Given the description of an element on the screen output the (x, y) to click on. 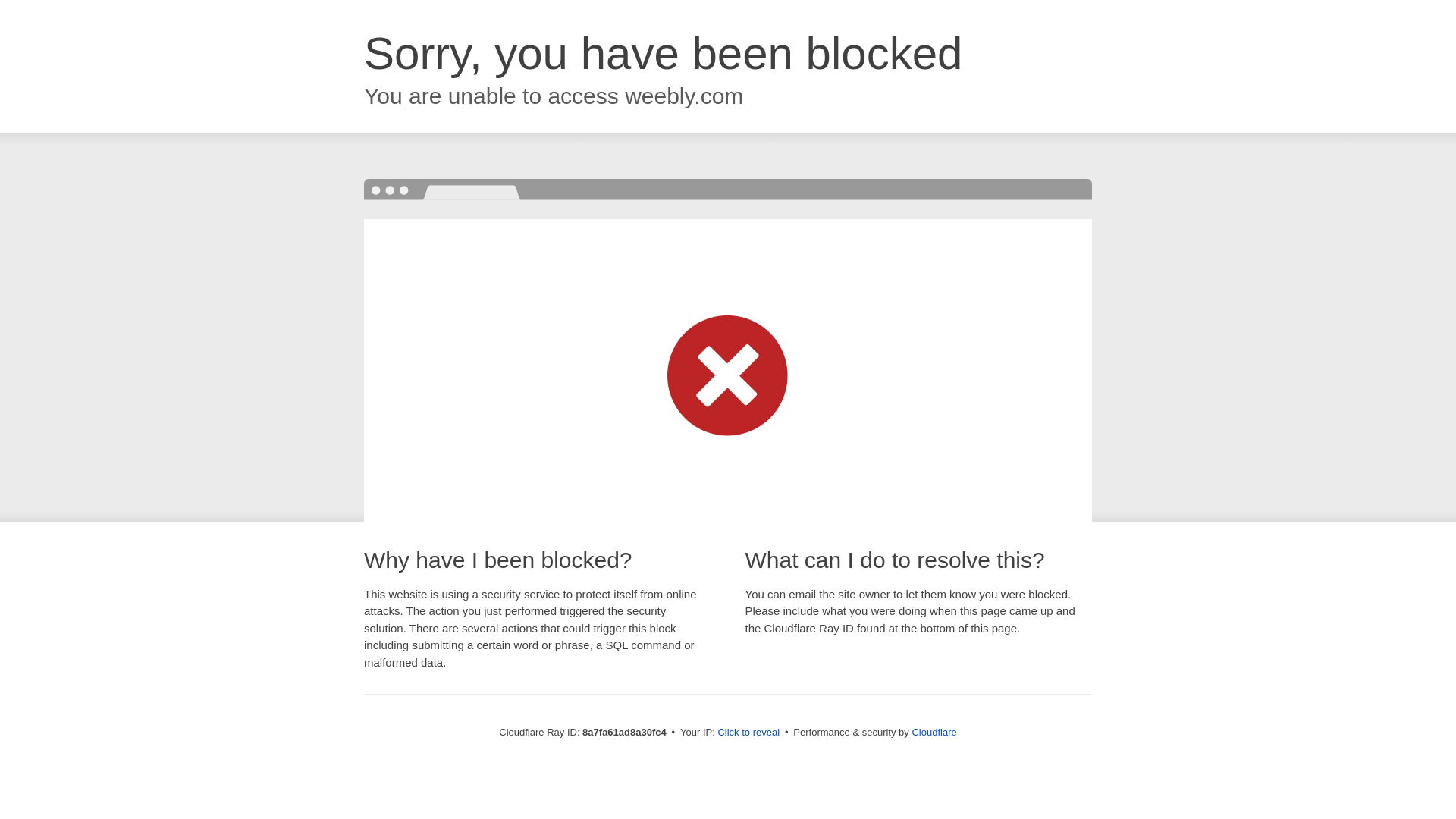
Click to reveal (747, 732)
Cloudflare (933, 731)
